Given the description of an element on the screen output the (x, y) to click on. 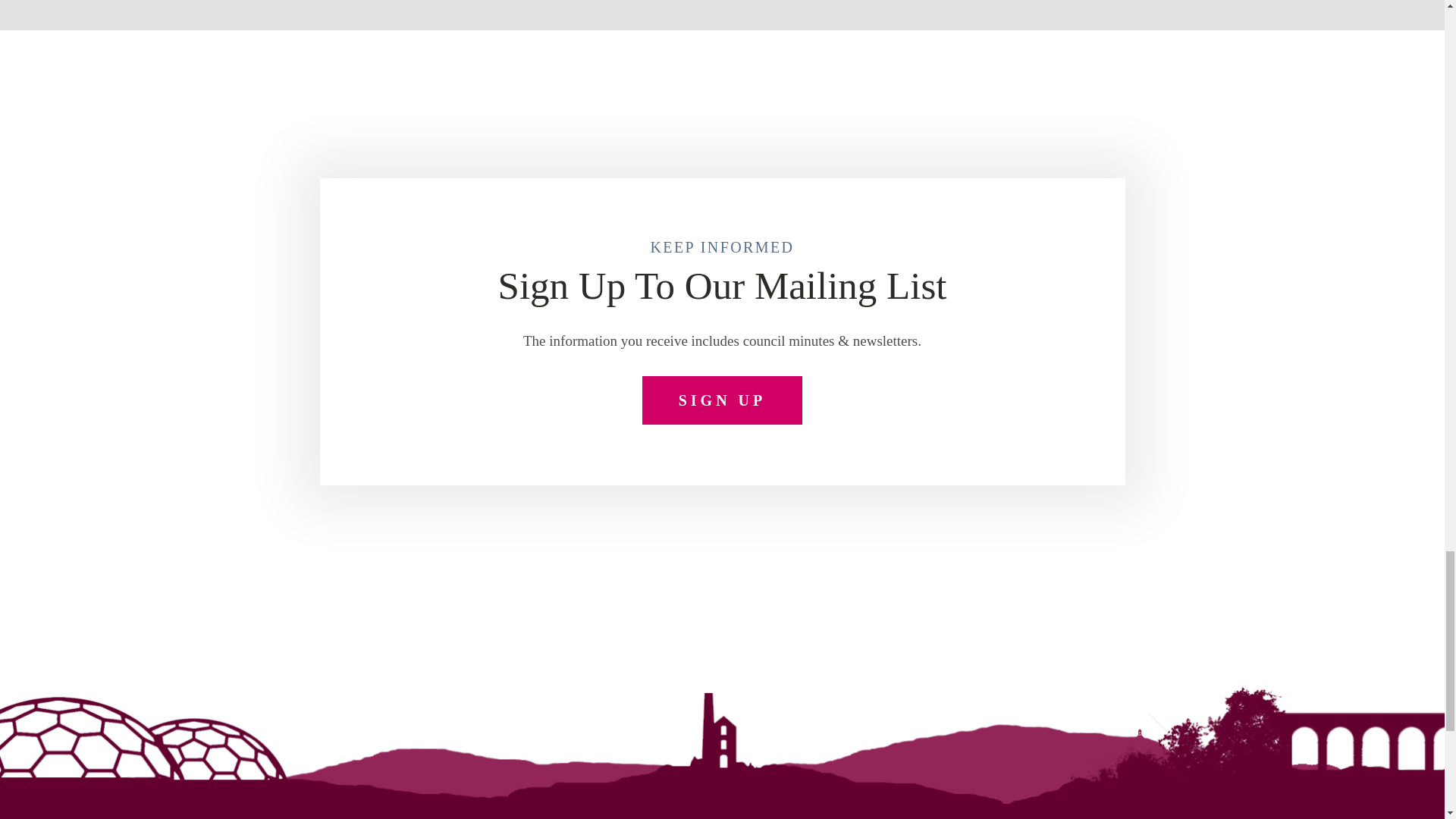
SIGN UP (722, 400)
